Given the description of an element on the screen output the (x, y) to click on. 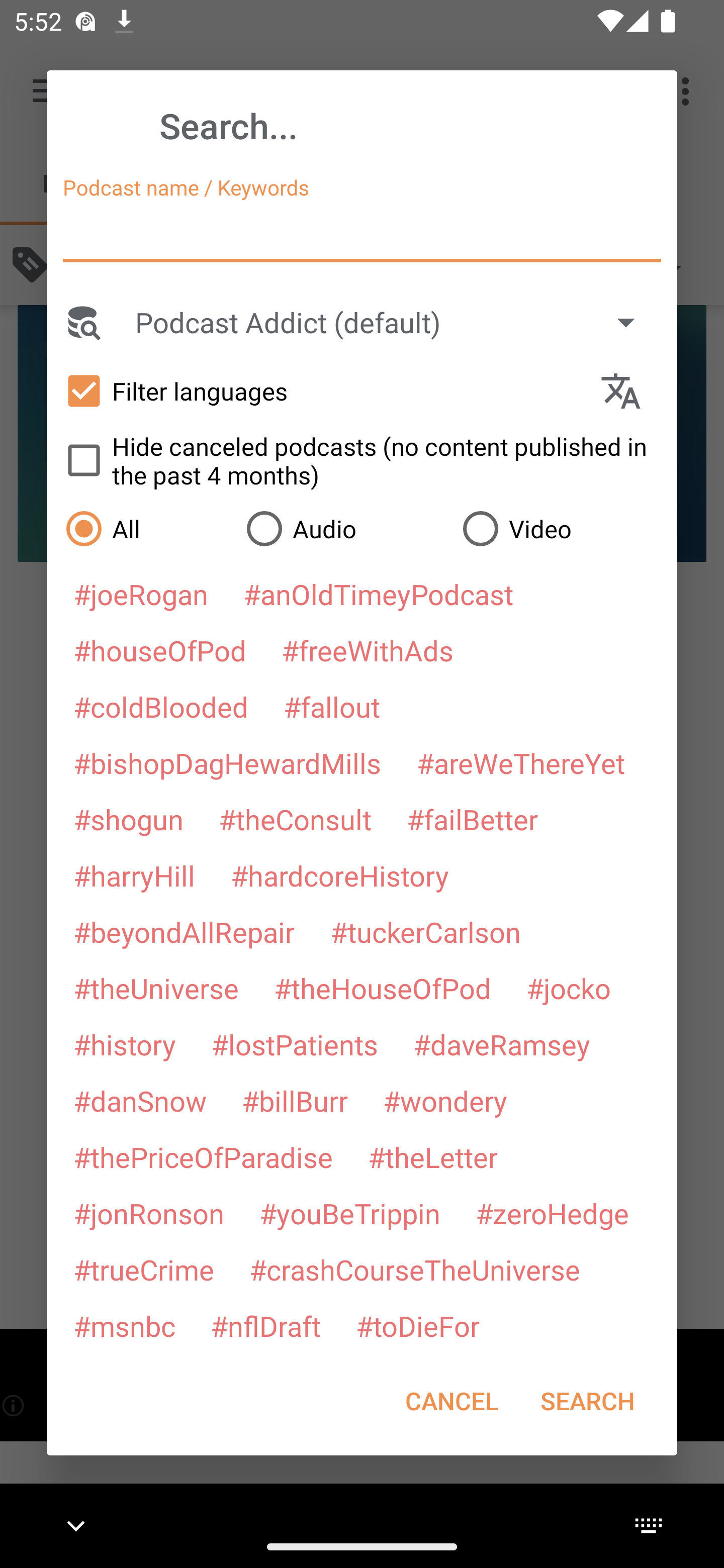
Podcast name / Keywords (361, 234)
Search Engine (82, 322)
Podcast Addict (default) (394, 322)
Languages selection (629, 390)
Filter languages (322, 390)
All (145, 528)
Audio (344, 528)
Video (560, 528)
#joeRogan (140, 594)
#anOldTimeyPodcast (378, 594)
#houseOfPod (159, 650)
#freeWithAds (367, 650)
#coldBlooded (160, 705)
#fallout (331, 705)
#bishopDagHewardMills (227, 762)
#areWeThereYet (521, 762)
#shogun (128, 818)
#theConsult (294, 818)
#failBetter (471, 818)
#harryHill (134, 875)
#hardcoreHistory (339, 875)
#beyondAllRepair (184, 931)
#tuckerCarlson (425, 931)
#theUniverse (155, 987)
#theHouseOfPod (381, 987)
#jocko (568, 987)
#history (124, 1044)
#lostPatients (294, 1044)
#daveRamsey (501, 1044)
#danSnow (139, 1100)
#billBurr (294, 1100)
#wondery (444, 1100)
#thePriceOfParadise (203, 1157)
#theLetter (432, 1157)
#jonRonson (148, 1213)
#youBeTrippin (349, 1213)
#zeroHedge (552, 1213)
#trueCrime (143, 1268)
#crashCourseTheUniverse (414, 1268)
#msnbc (124, 1325)
#nflDraft (265, 1325)
#toDieFor (417, 1325)
CANCEL (451, 1400)
SEARCH (587, 1400)
